Given the description of an element on the screen output the (x, y) to click on. 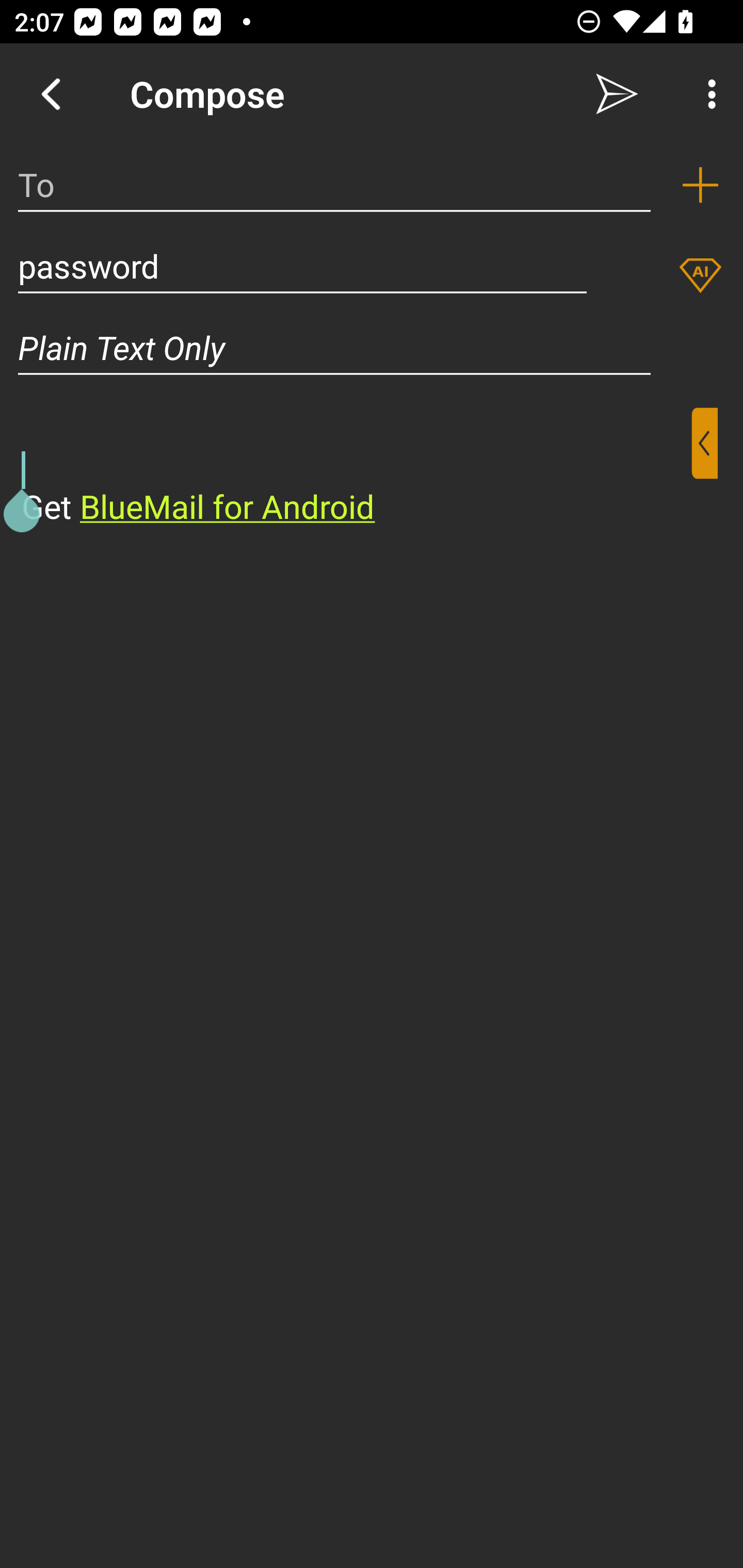
Navigate up (50, 93)
Send (616, 93)
More Options (706, 93)
To (334, 184)
Add recipient (To) (699, 184)
password (302, 266)
Plain Text Only (371, 347)


⁣Get BlueMail for Android ​ (355, 468)
